Given the description of an element on the screen output the (x, y) to click on. 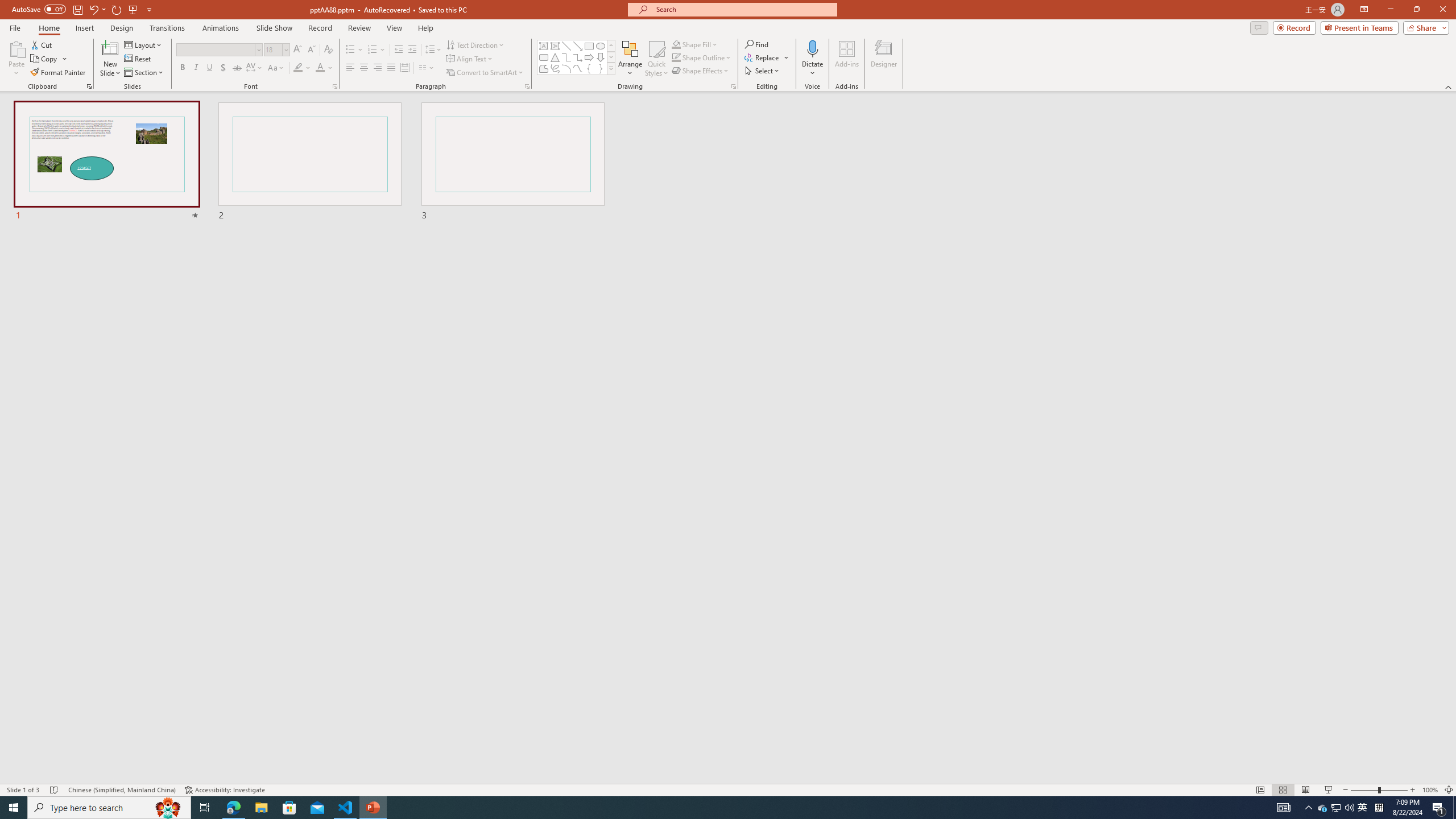
Zoom In (1412, 790)
View (395, 28)
Class: NetUIImage (610, 68)
From Beginning (133, 9)
Slide (513, 161)
Connector: Elbow (566, 57)
Shape Outline Teal, Accent 1 (675, 56)
Quick Styles (656, 58)
New Slide (110, 58)
Insert (83, 28)
Underline (209, 67)
Zoom Out (1364, 790)
Text Highlight Color (302, 67)
Cut (42, 44)
Share (1423, 27)
